Given the description of an element on the screen output the (x, y) to click on. 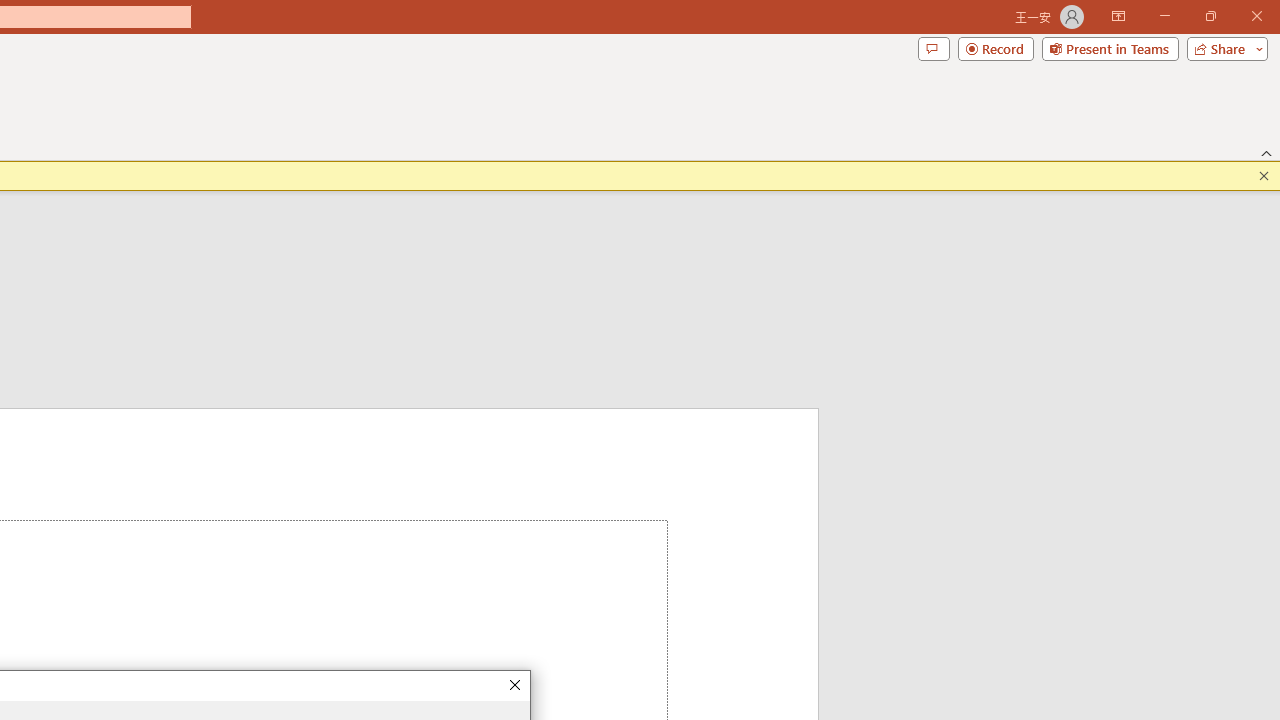
Close this message (1263, 176)
